Given the description of an element on the screen output the (x, y) to click on. 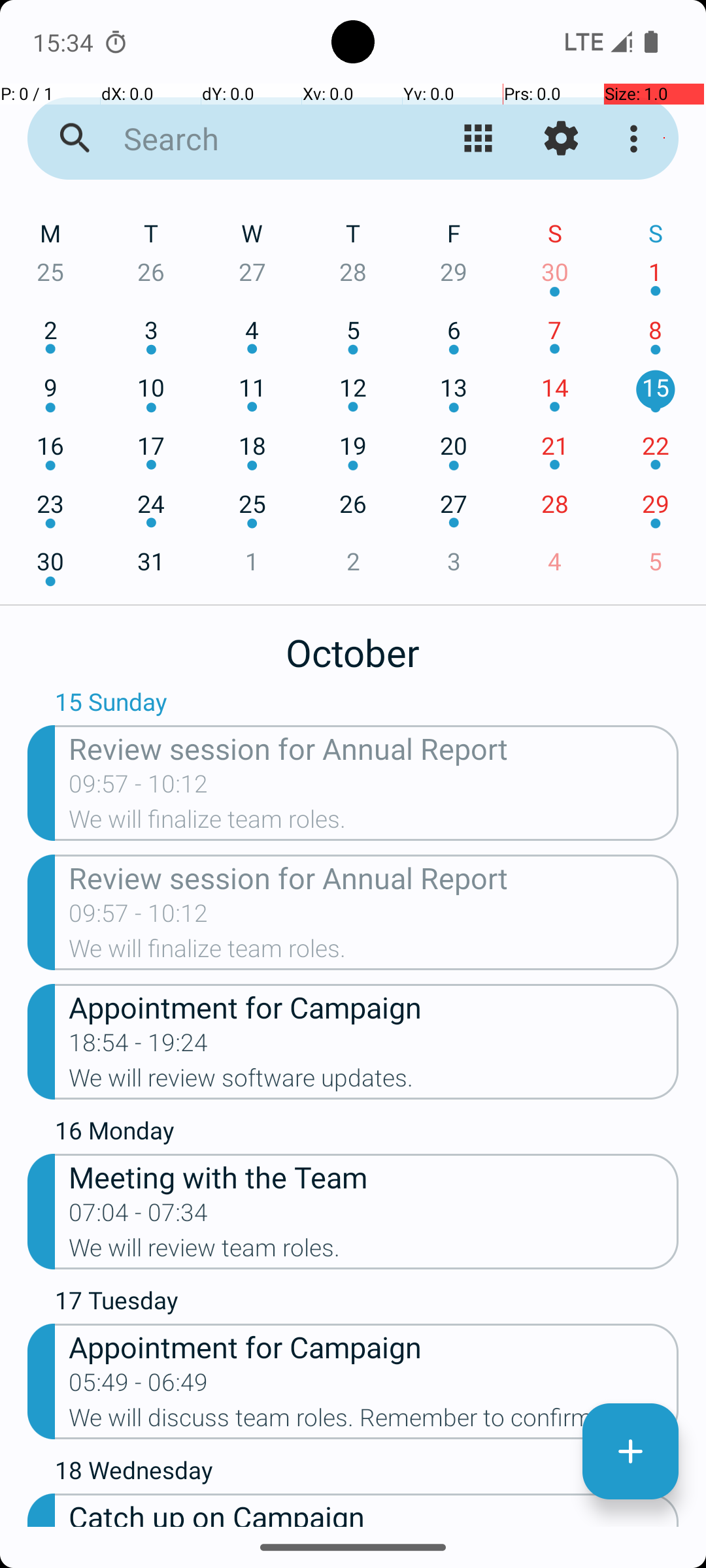
09:57 - 10:12 Element type: android.widget.TextView (137, 787)
We will finalize team roles. Element type: android.widget.TextView (373, 822)
18:54 - 19:24 Element type: android.widget.TextView (137, 1046)
We will review software updates. Element type: android.widget.TextView (373, 1081)
07:04 - 07:34 Element type: android.widget.TextView (137, 1216)
We will review team roles. Element type: android.widget.TextView (373, 1251)
05:49 - 06:49 Element type: android.widget.TextView (137, 1386)
We will discuss team roles. Remember to confirm attendance. Element type: android.widget.TextView (373, 1421)
